Given the description of an element on the screen output the (x, y) to click on. 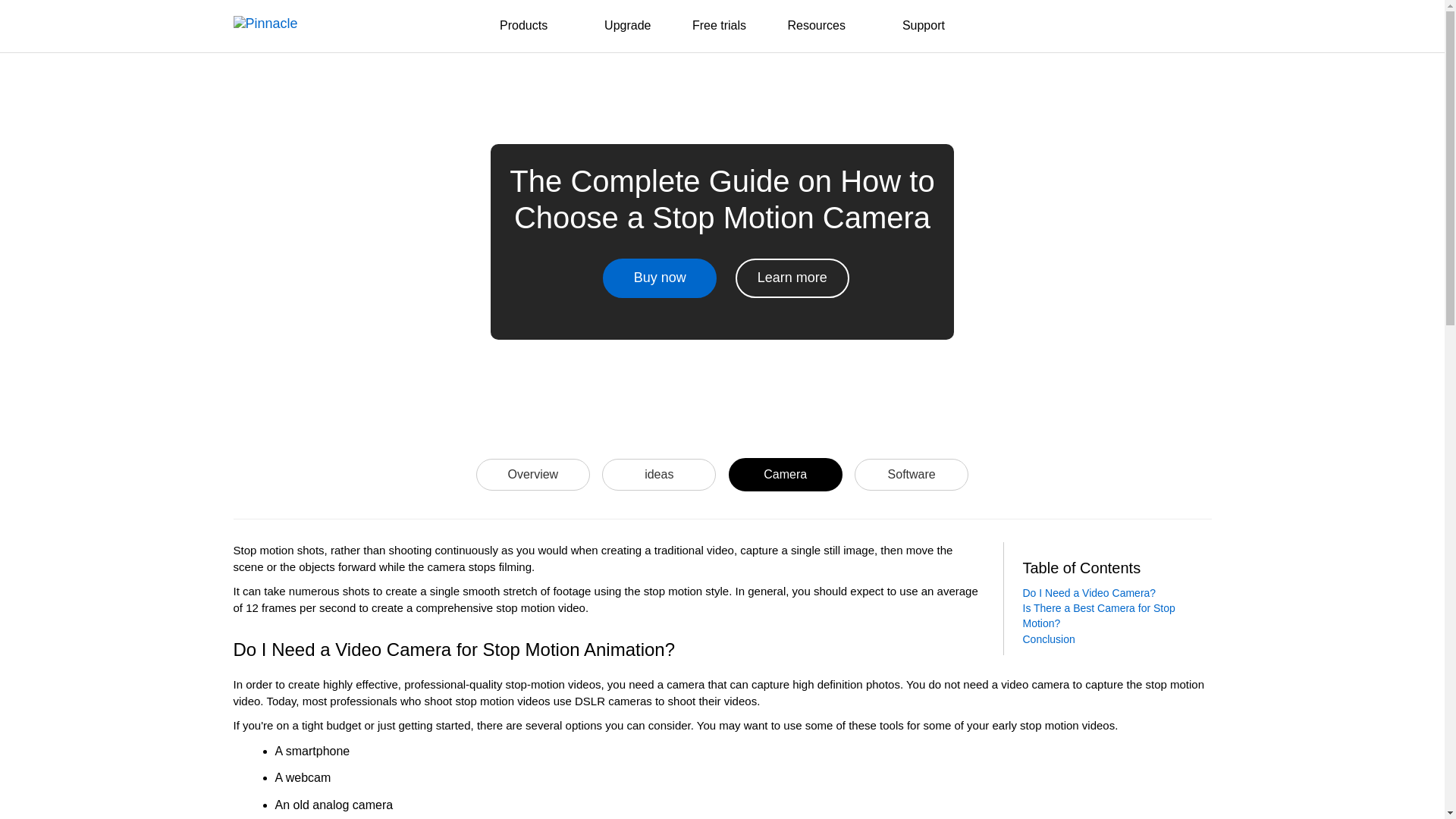
Upgrade (627, 25)
Free trials (718, 25)
Buy now (659, 278)
Overview (532, 472)
Products (531, 27)
Pinnacle (309, 24)
Resources (824, 27)
ideas (659, 474)
Camera (785, 472)
Software (911, 472)
Overview (532, 474)
ideas (658, 472)
Learn more (791, 278)
Camera (786, 474)
Support (923, 25)
